Given the description of an element on the screen output the (x, y) to click on. 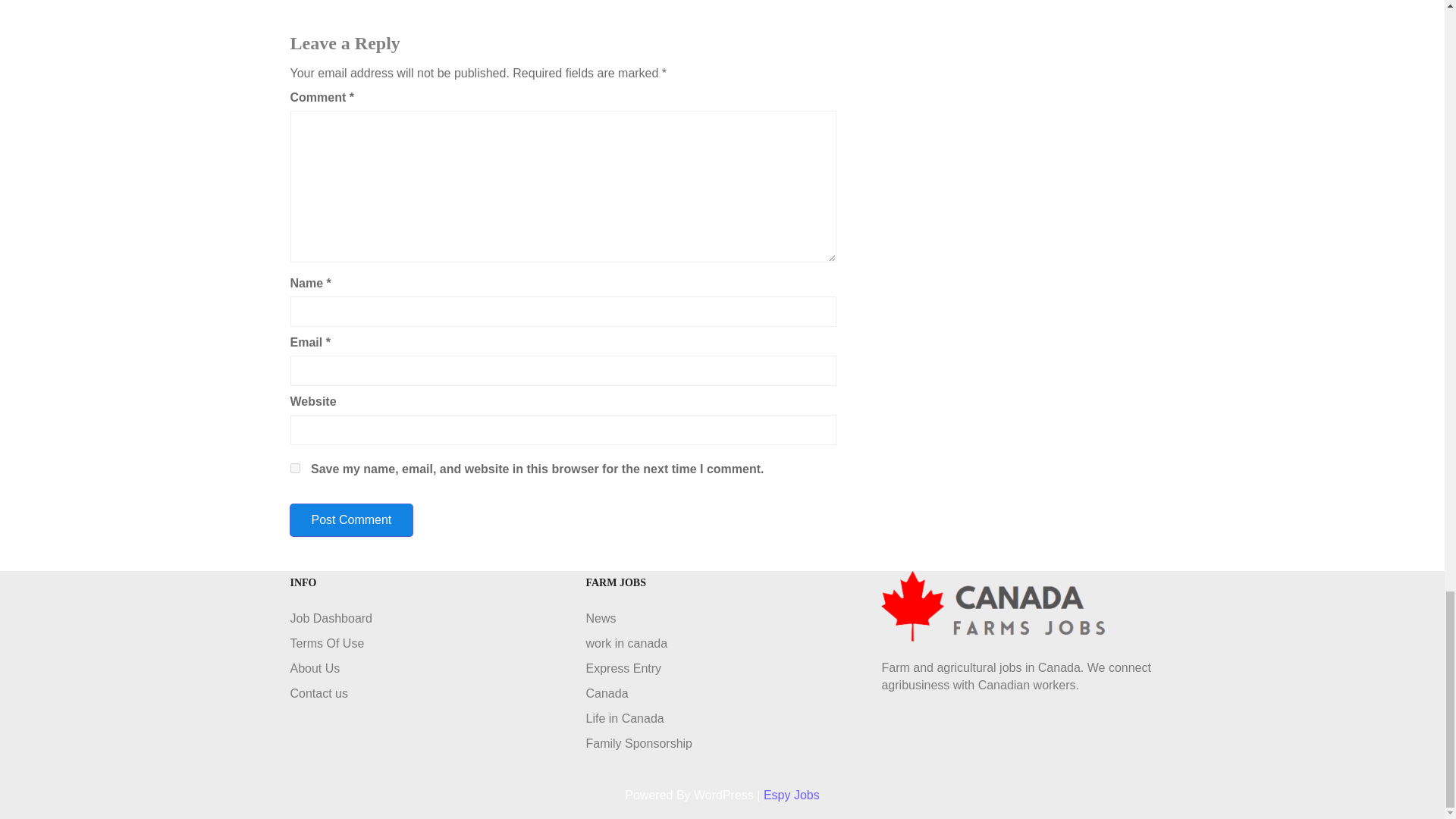
yes (294, 468)
Post Comment (350, 520)
Post Comment (350, 520)
